Given the description of an element on the screen output the (x, y) to click on. 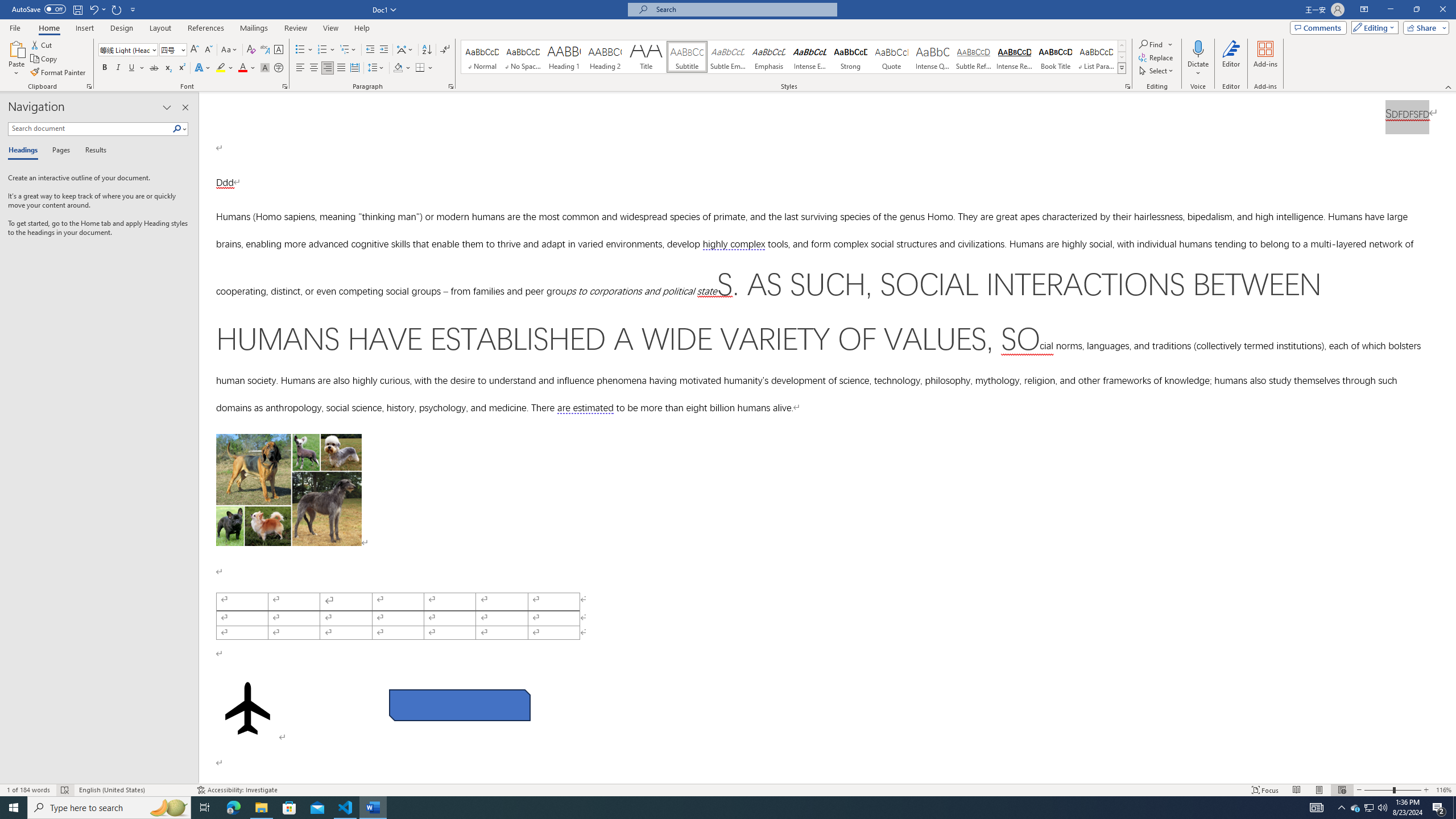
Format Painter (58, 72)
Replace... (1156, 56)
Intense Reference (1014, 56)
Subscript (167, 67)
Clear Formatting (250, 49)
Text Highlight Color (224, 67)
